Given the description of an element on the screen output the (x, y) to click on. 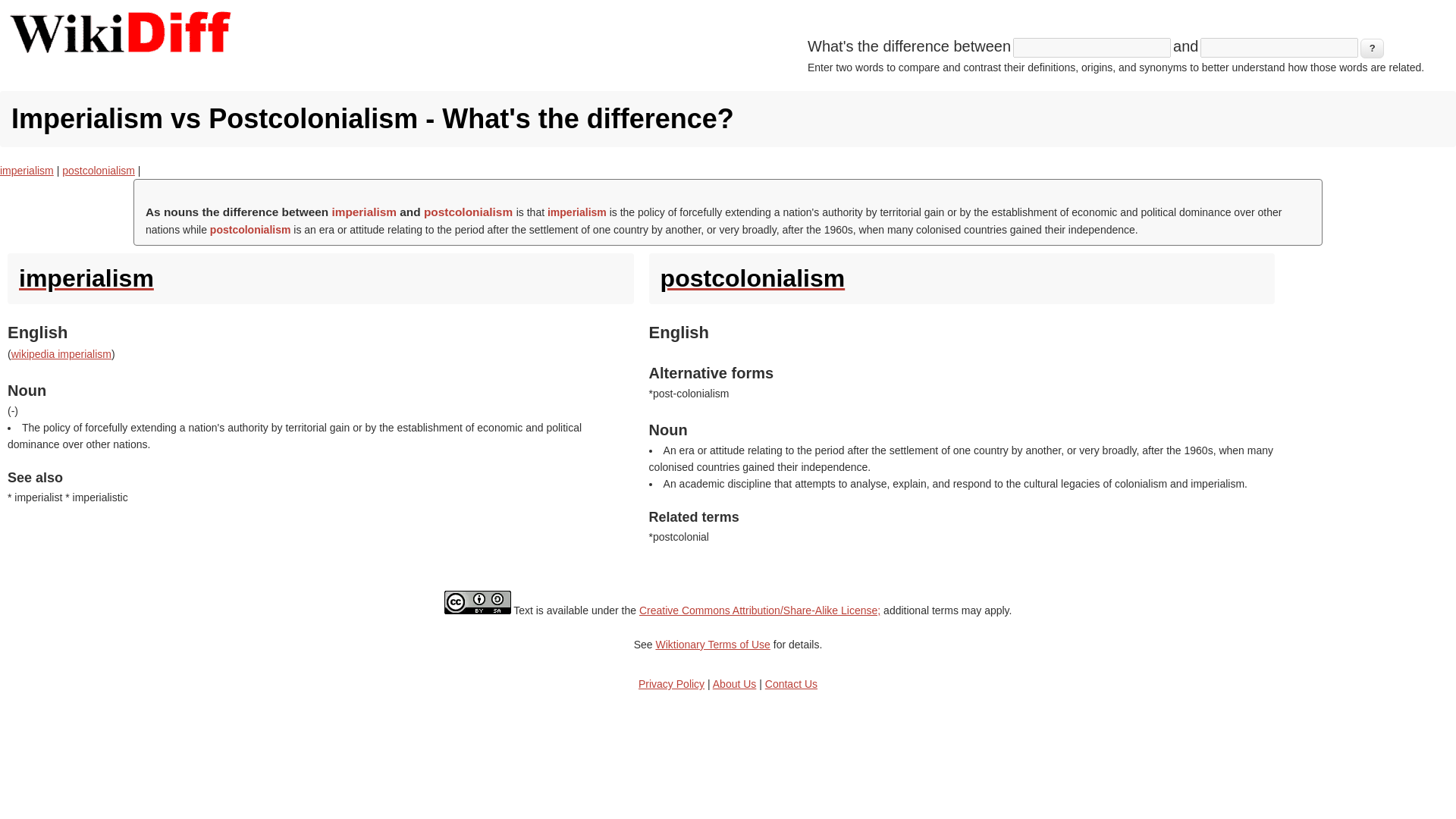
postcolonialism (962, 278)
? (1371, 48)
imperialism (26, 170)
? (1371, 48)
About Us (735, 684)
postcolonialism (98, 170)
imperialism (320, 278)
wikipedia imperialism (61, 354)
Privacy Policy (671, 684)
Contact Us (790, 684)
